Given the description of an element on the screen output the (x, y) to click on. 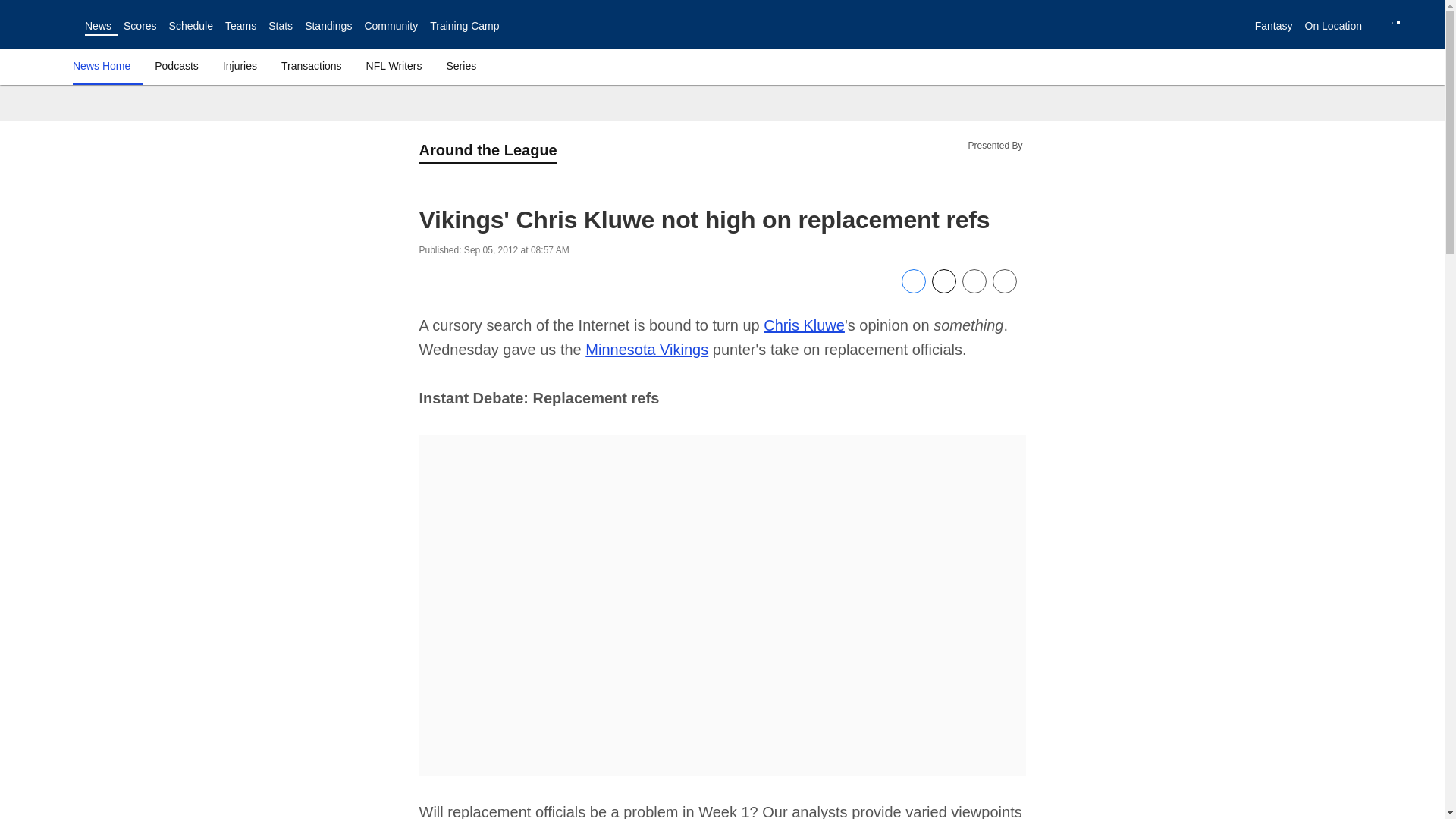
Teams (240, 25)
News (98, 25)
Schedule (190, 25)
Teams (240, 25)
Scores (140, 25)
Scores (140, 25)
Schedule (190, 25)
News (98, 25)
Link to NFL homepage (42, 23)
Stats (279, 25)
